Given the description of an element on the screen output the (x, y) to click on. 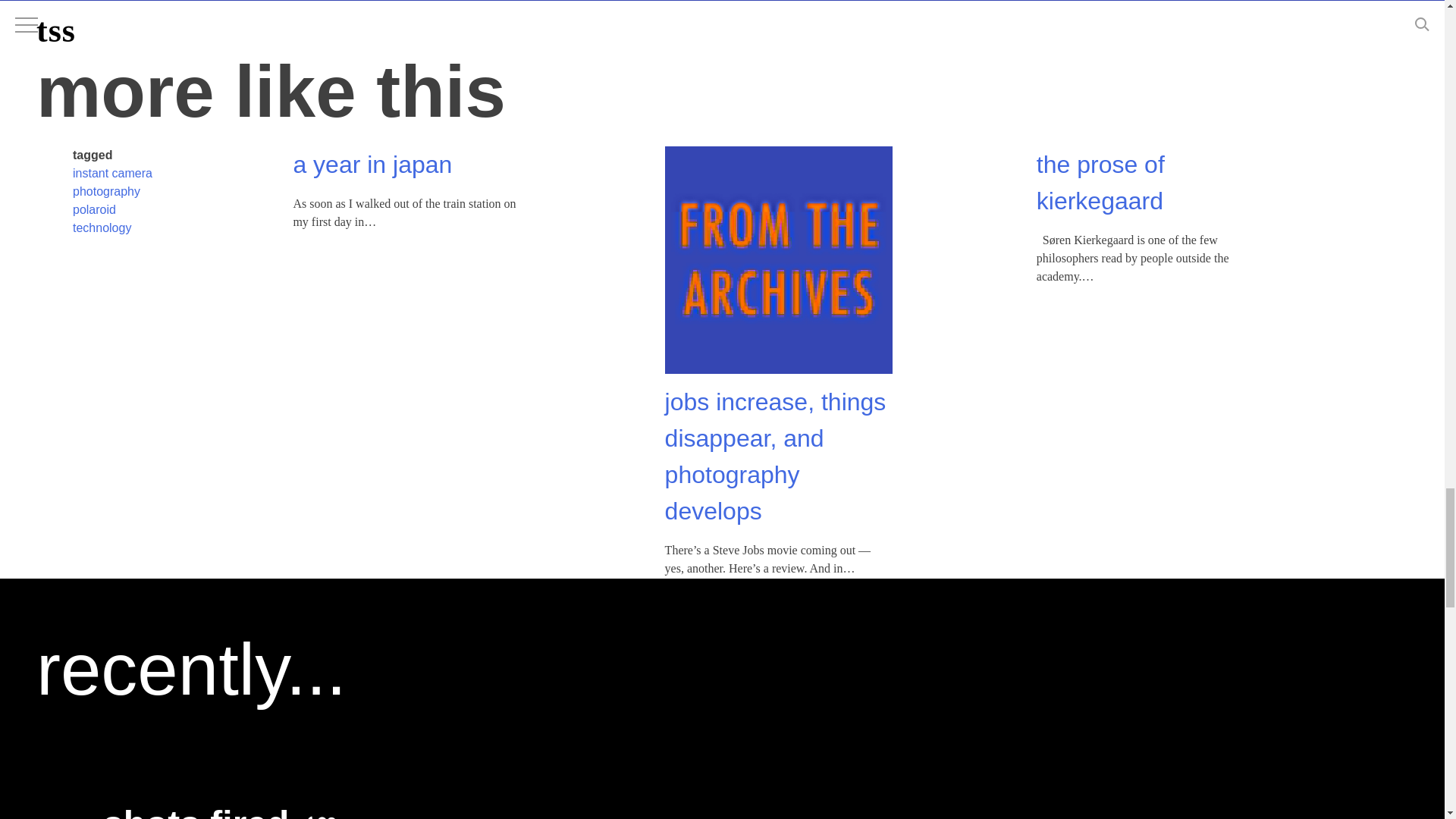
technology (101, 173)
jobs increase, things disappear, and photography develops (775, 401)
instant camera (112, 118)
the prose of kierkegaard (1100, 128)
polaroid (94, 154)
a year in japan (371, 110)
photography (105, 136)
